Given the description of an element on the screen output the (x, y) to click on. 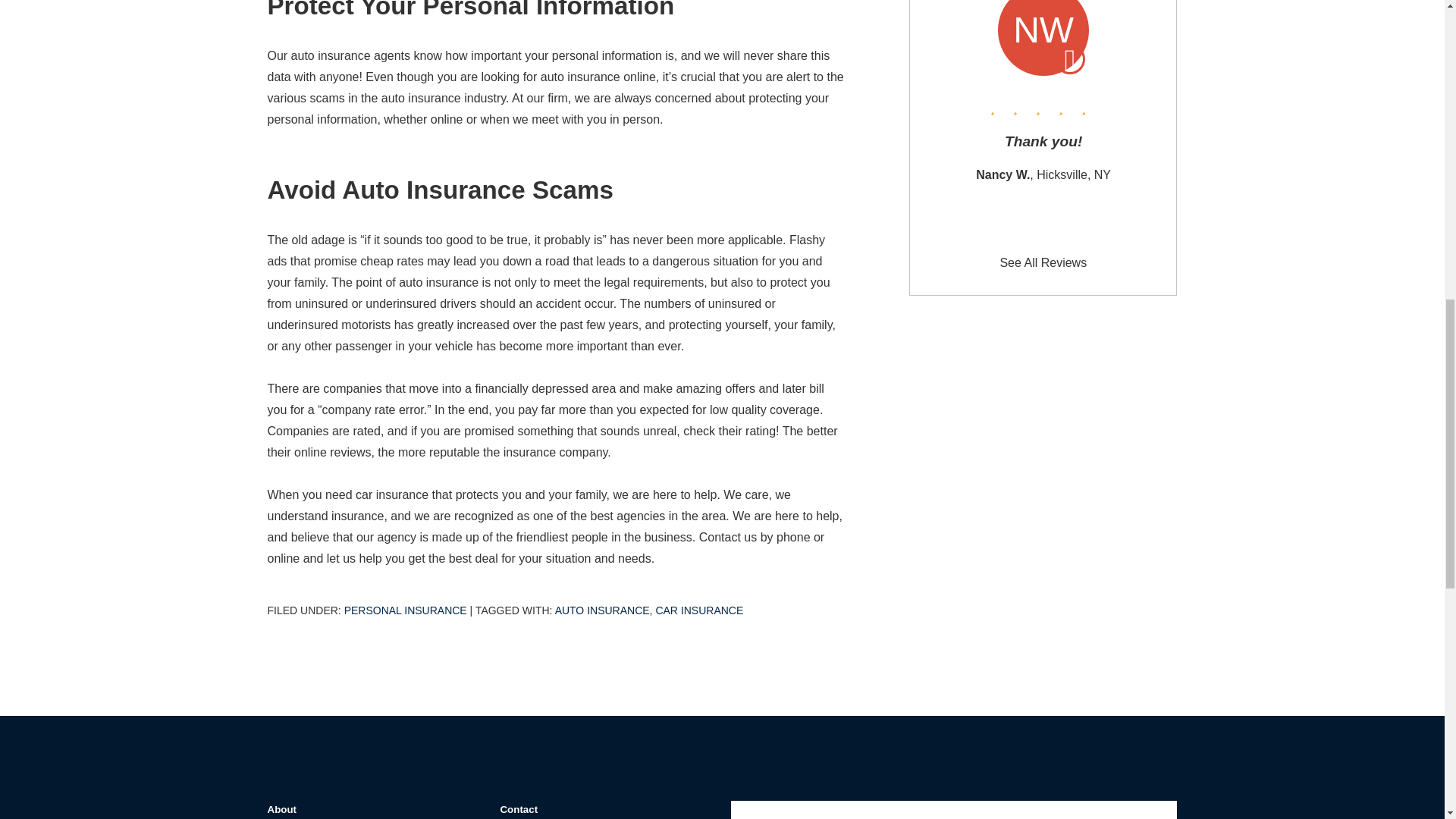
Auto Insurance (601, 610)
Car Insurance (698, 610)
Personal Insurance (405, 610)
